Given the description of an element on the screen output the (x, y) to click on. 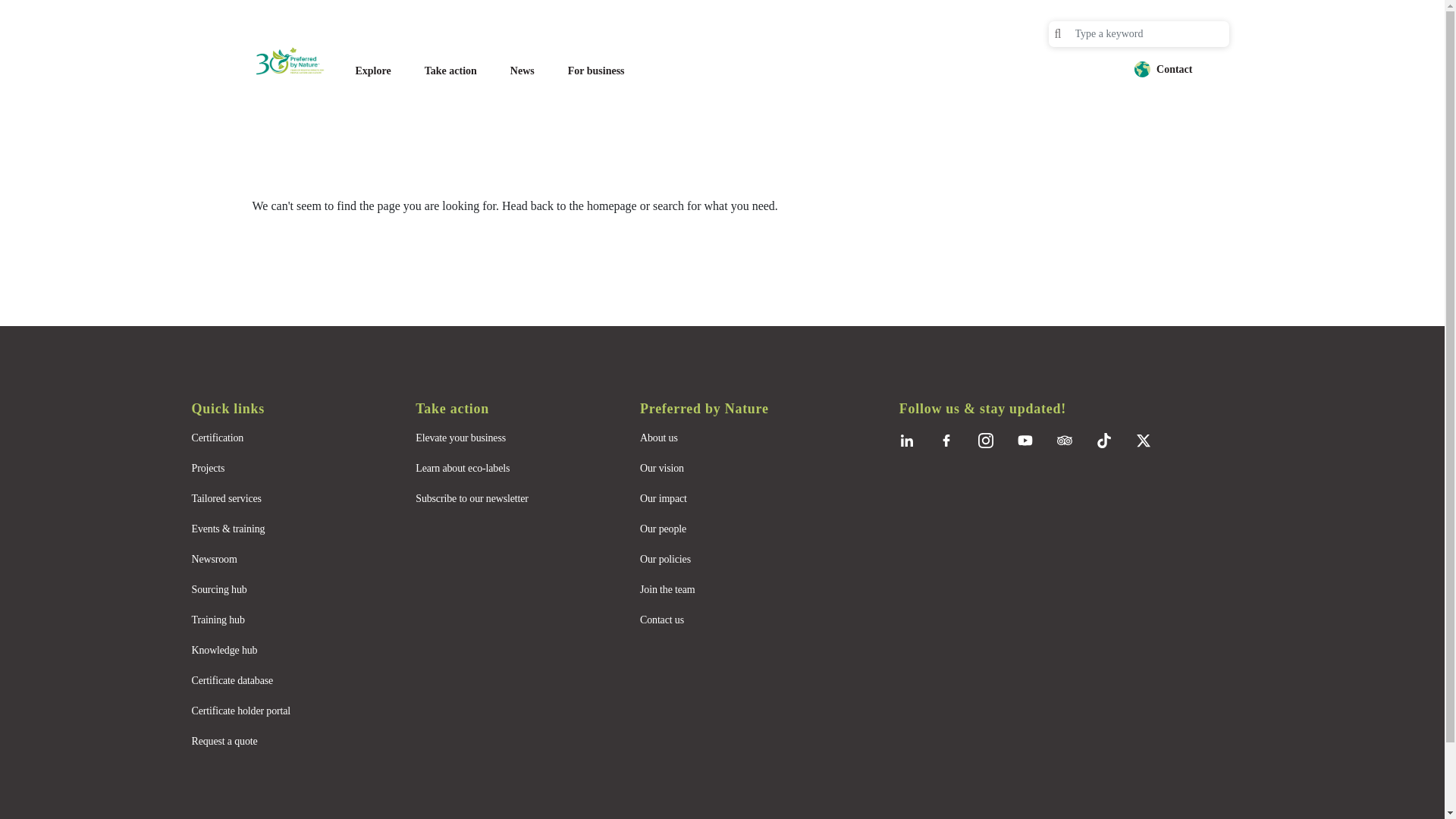
Home (296, 60)
For Business (595, 70)
